Given the description of an element on the screen output the (x, y) to click on. 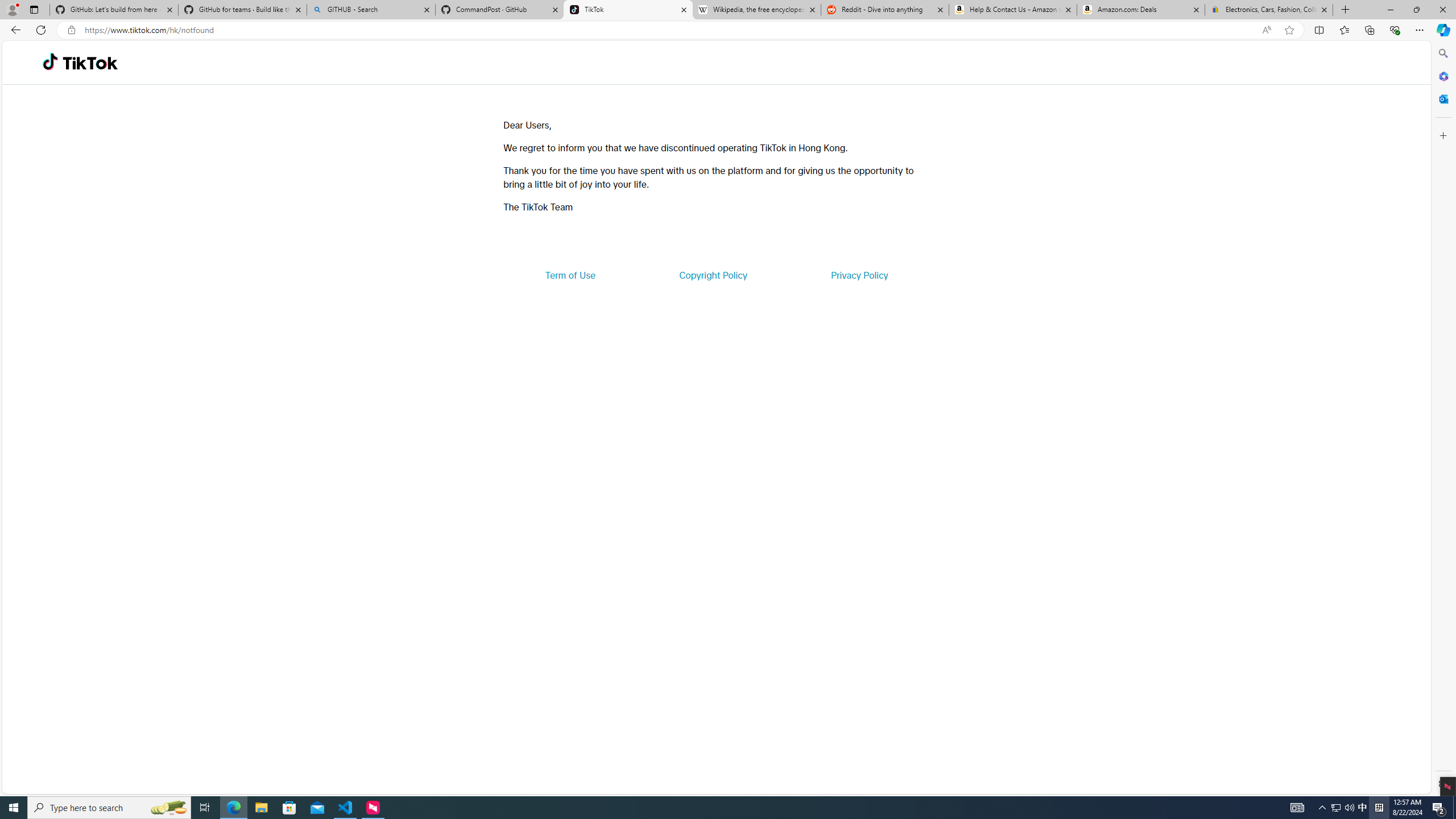
Amazon.com: Deals (1140, 9)
Wikipedia, the free encyclopedia (756, 9)
